Given the description of an element on the screen output the (x, y) to click on. 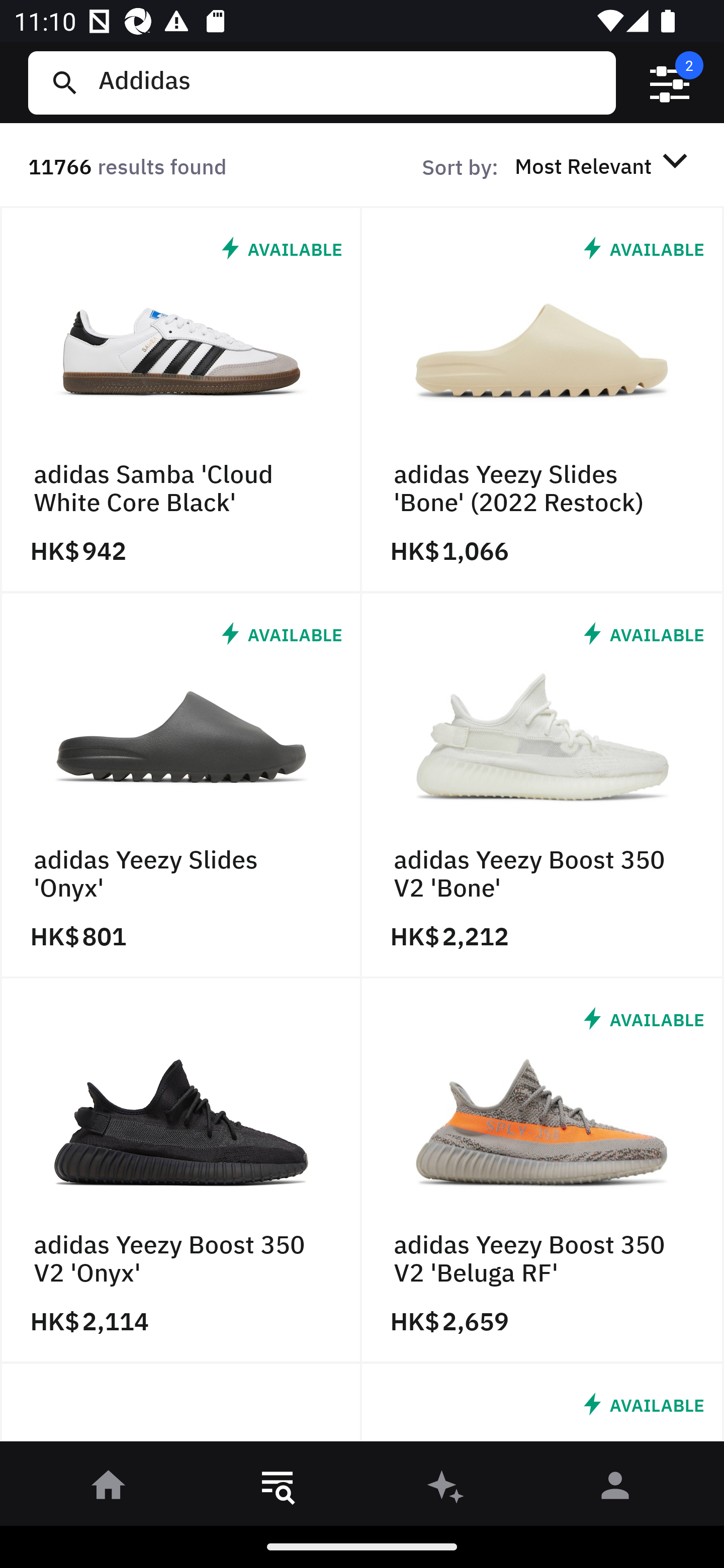
Addidas (349, 82)
 (669, 82)
Most Relevant  (604, 165)
 AVAILABLE adidas Yeezy Slides 'Onyx' HK$ 801 (181, 785)
adidas Yeezy Boost 350 V2 'Onyx' HK$ 2,114 (181, 1171)
󰋜 (108, 1488)
󱎸 (277, 1488)
󰫢 (446, 1488)
󰀄 (615, 1488)
